Given the description of an element on the screen output the (x, y) to click on. 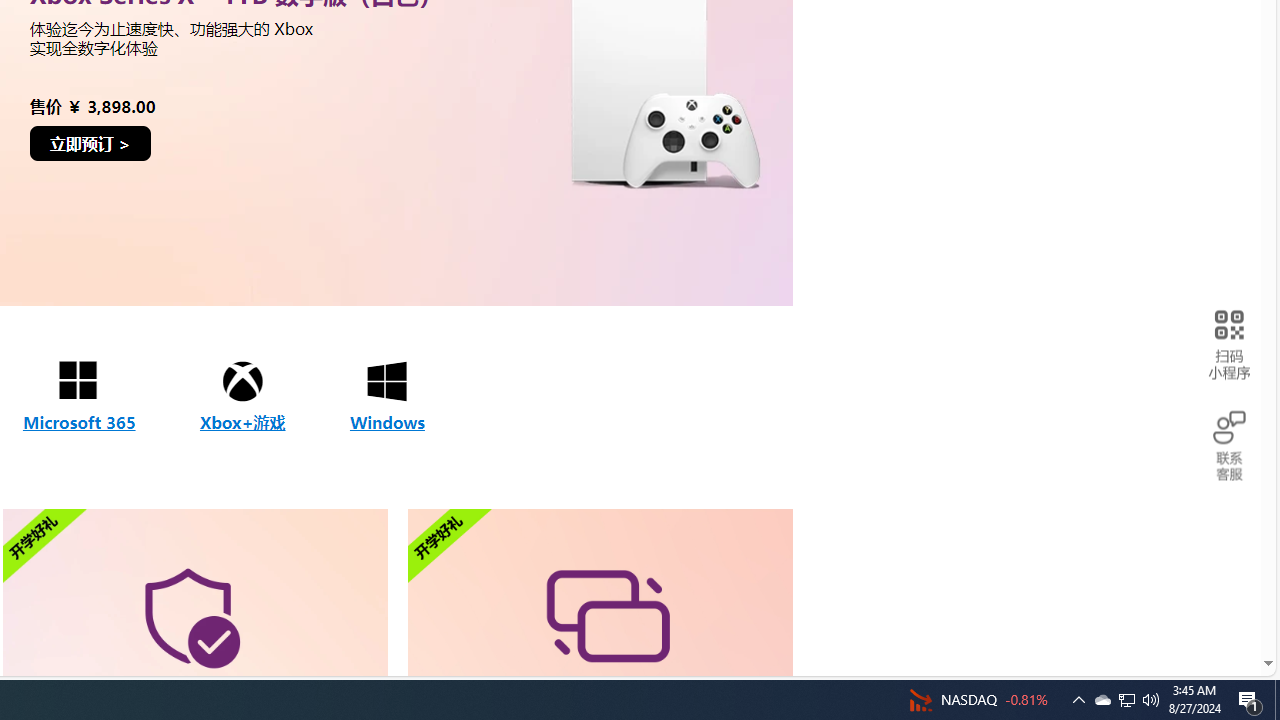
Windows (386, 397)
